Given the description of an element on the screen output the (x, y) to click on. 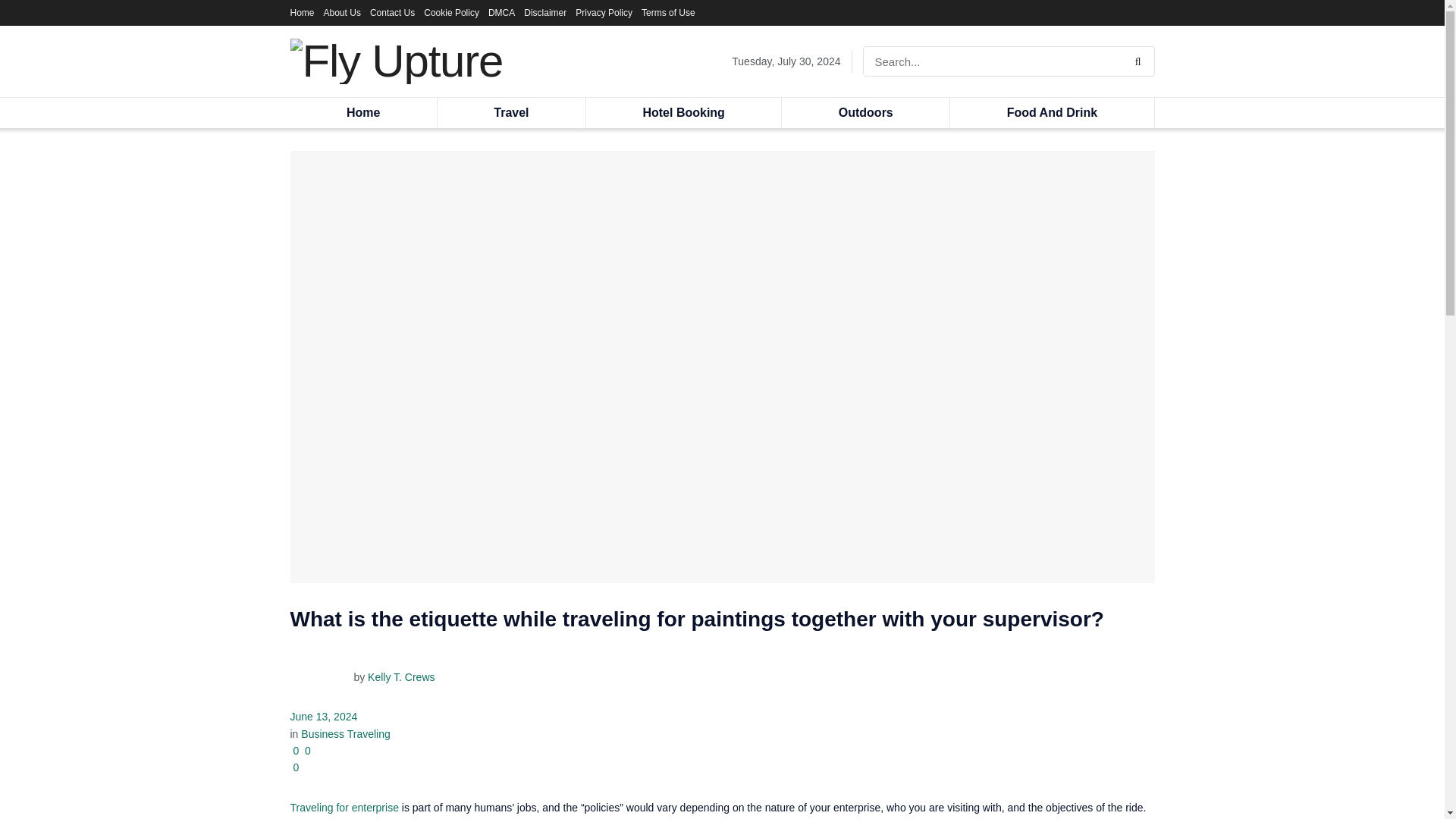
About Us (342, 12)
Home (301, 12)
Privacy Policy (603, 12)
Food And Drink (1051, 112)
Contact Us (391, 12)
Home (362, 112)
Hotel Booking (683, 112)
DMCA (501, 12)
Cookie Policy (451, 12)
Outdoors (865, 112)
Disclaimer (545, 12)
Terms of Use (668, 12)
Travel (511, 112)
